Given the description of an element on the screen output the (x, y) to click on. 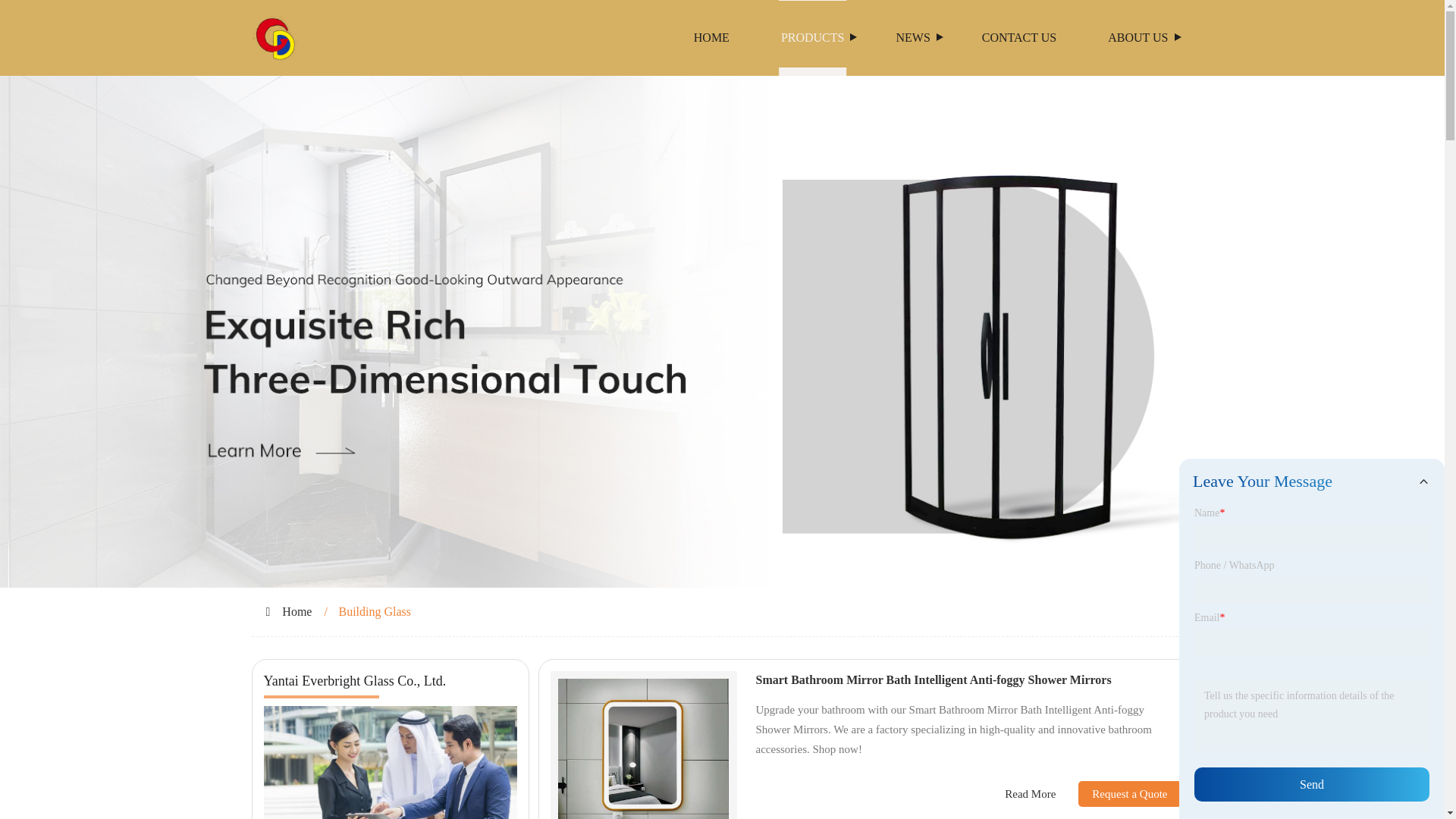
Read More (1029, 794)
CONTACT US (1018, 38)
PRODUCTS (812, 38)
Home (296, 611)
Request a Quote (1117, 793)
